Given the description of an element on the screen output the (x, y) to click on. 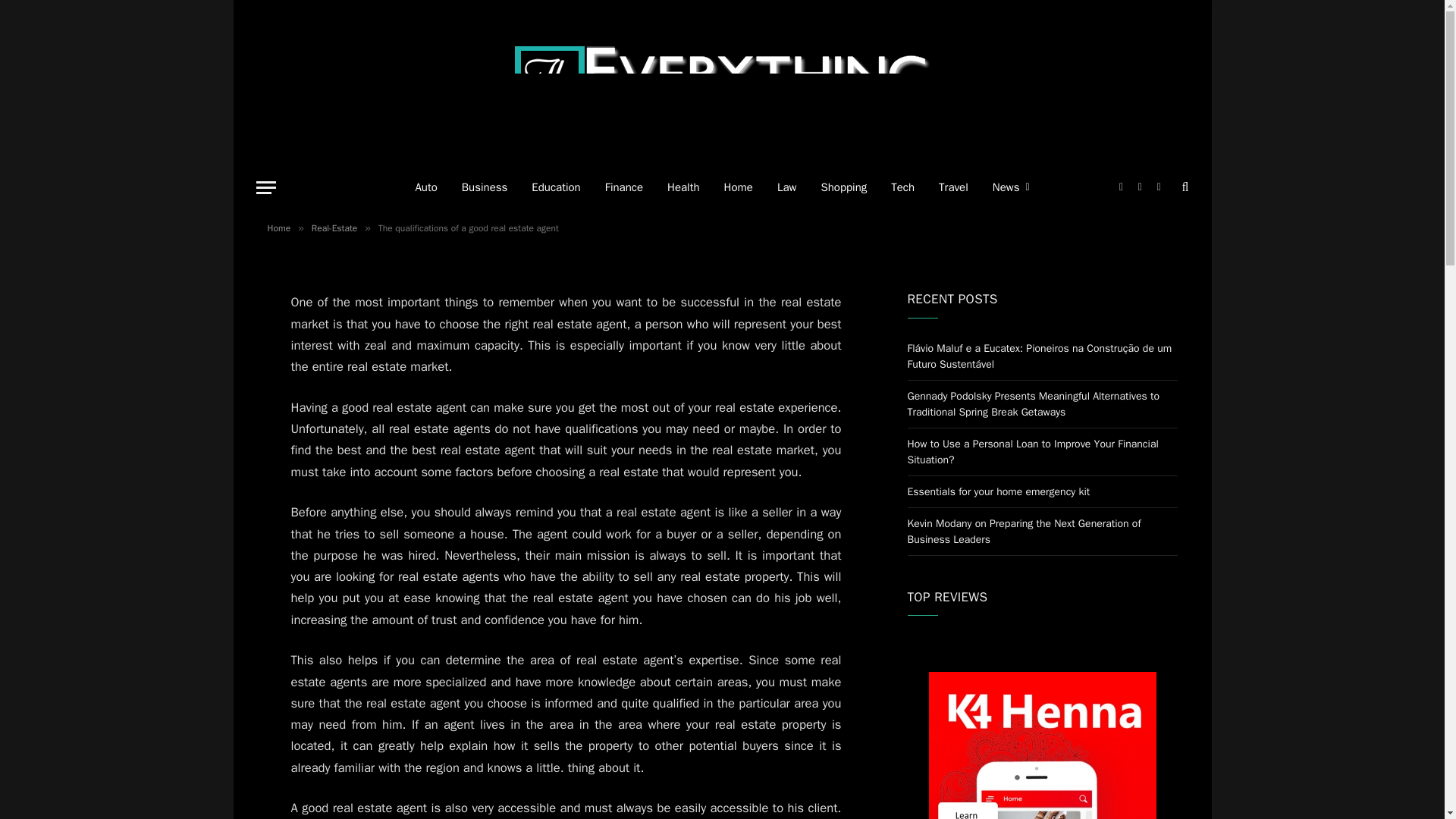
Home (738, 187)
Auto (425, 187)
Health (683, 187)
Education (555, 187)
Business (484, 187)
Home (277, 227)
Real-Estate (333, 227)
Shopping (843, 187)
Finance (623, 187)
Tech (902, 187)
Law (786, 187)
Travel (952, 187)
News (1010, 187)
